Given the description of an element on the screen output the (x, y) to click on. 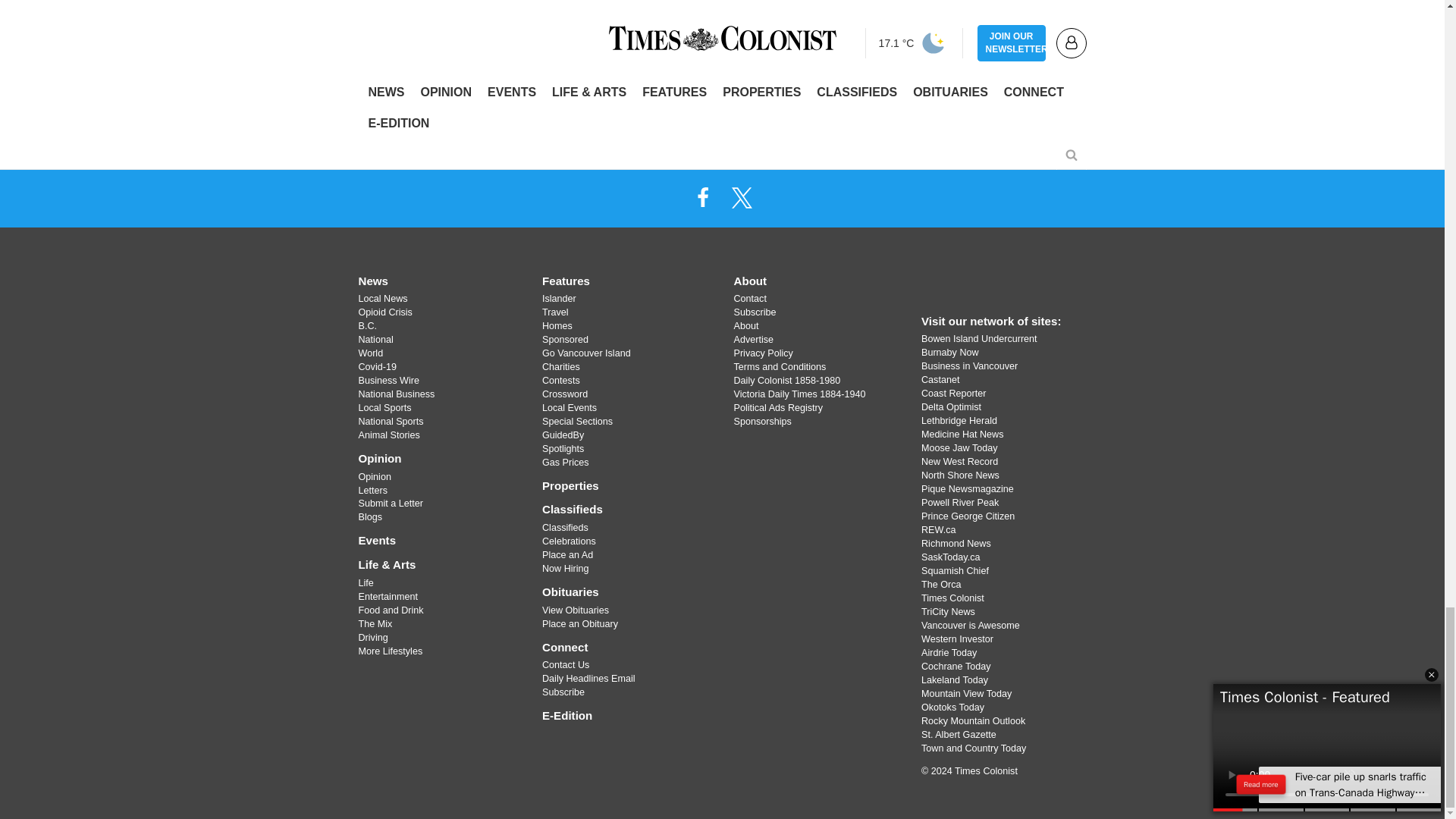
Facebook (702, 196)
X (741, 196)
